Given the description of an element on the screen output the (x, y) to click on. 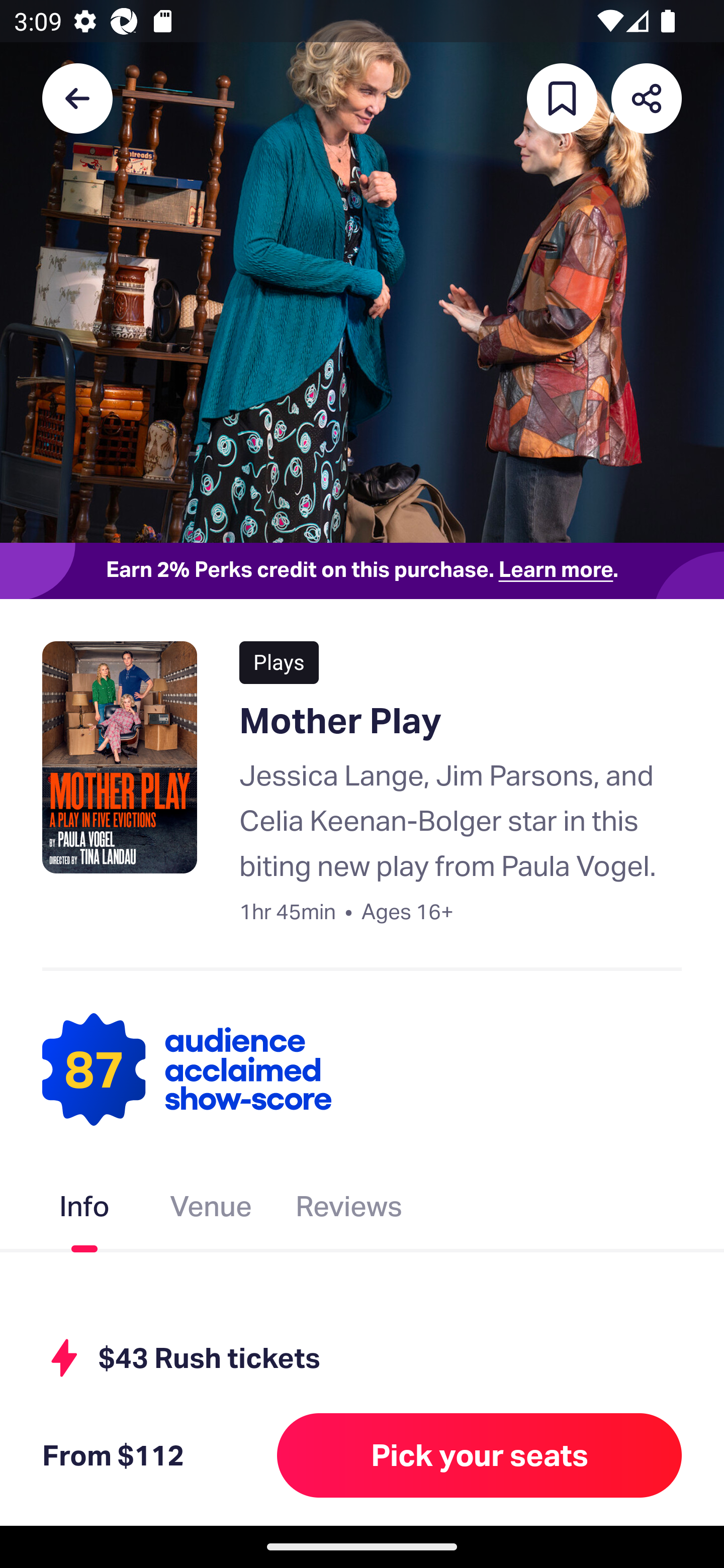
Earn 2% Perks credit on this purchase. Learn more. (362, 570)
Venue (210, 1210)
Reviews (348, 1210)
Pick your seats (479, 1454)
